Given the description of an element on the screen output the (x, y) to click on. 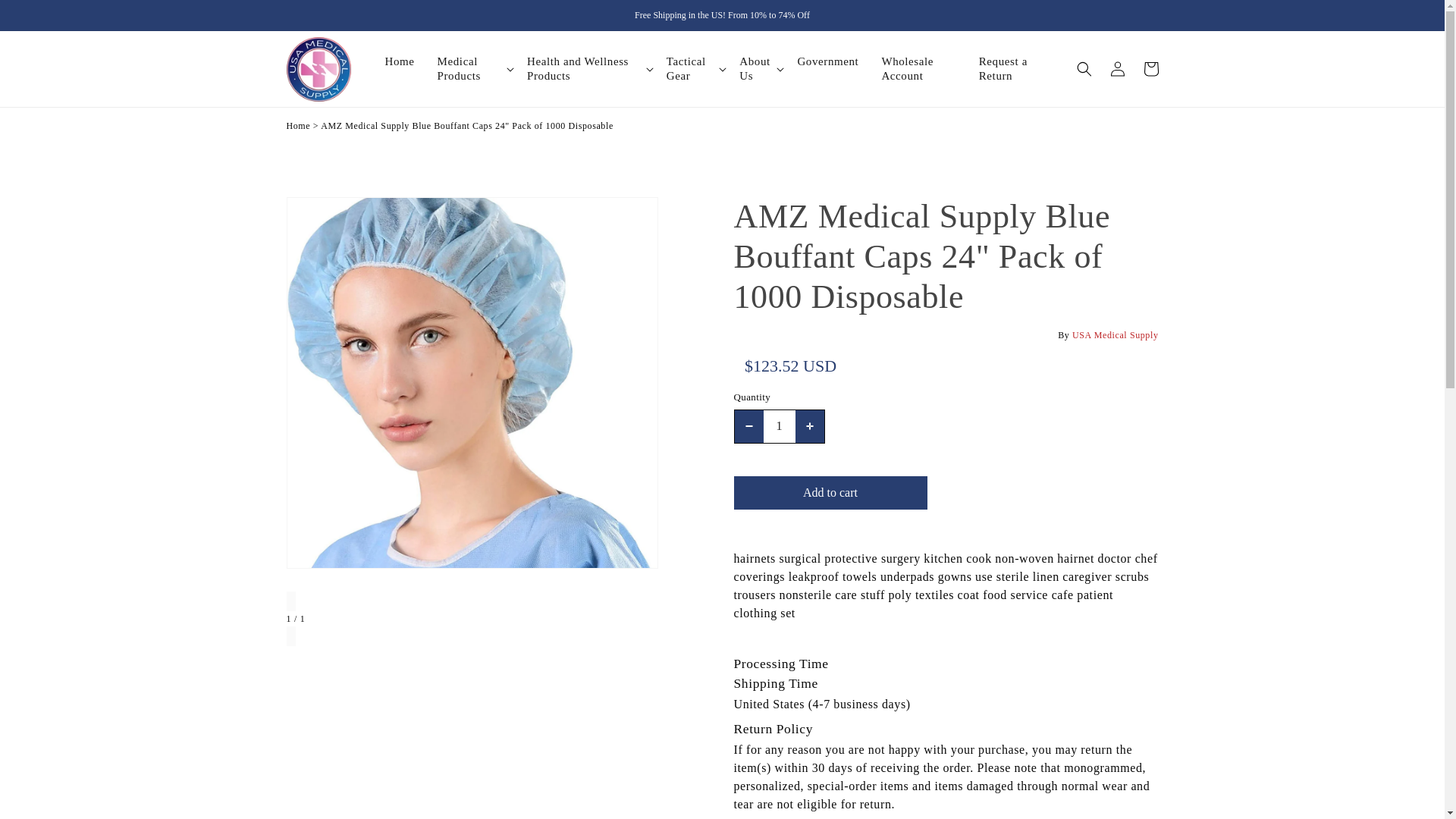
Home (298, 125)
1 (778, 426)
Home (409, 60)
Skip to content (14, 7)
